Given the description of an element on the screen output the (x, y) to click on. 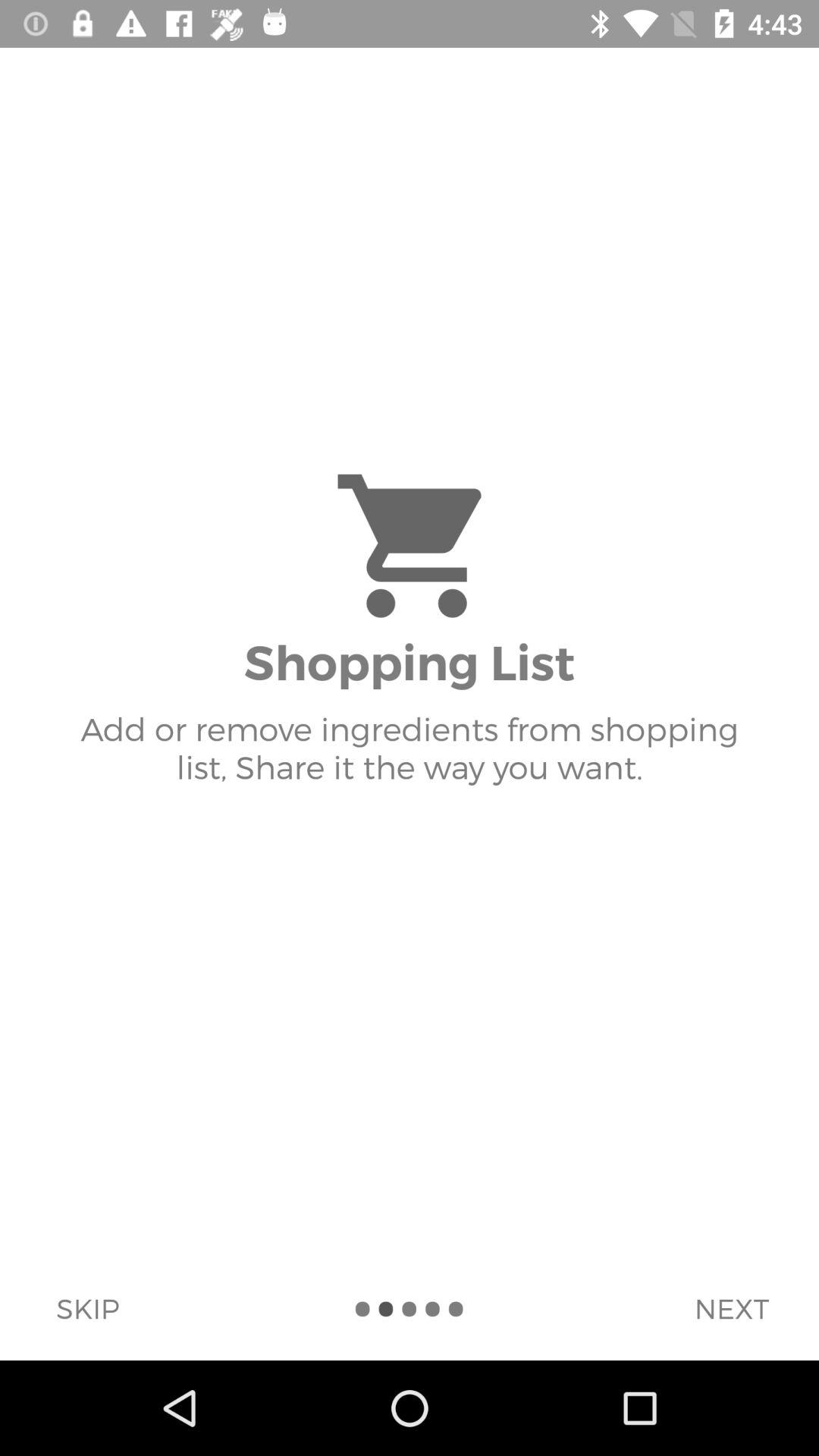
scroll until skip icon (87, 1308)
